Given the description of an element on the screen output the (x, y) to click on. 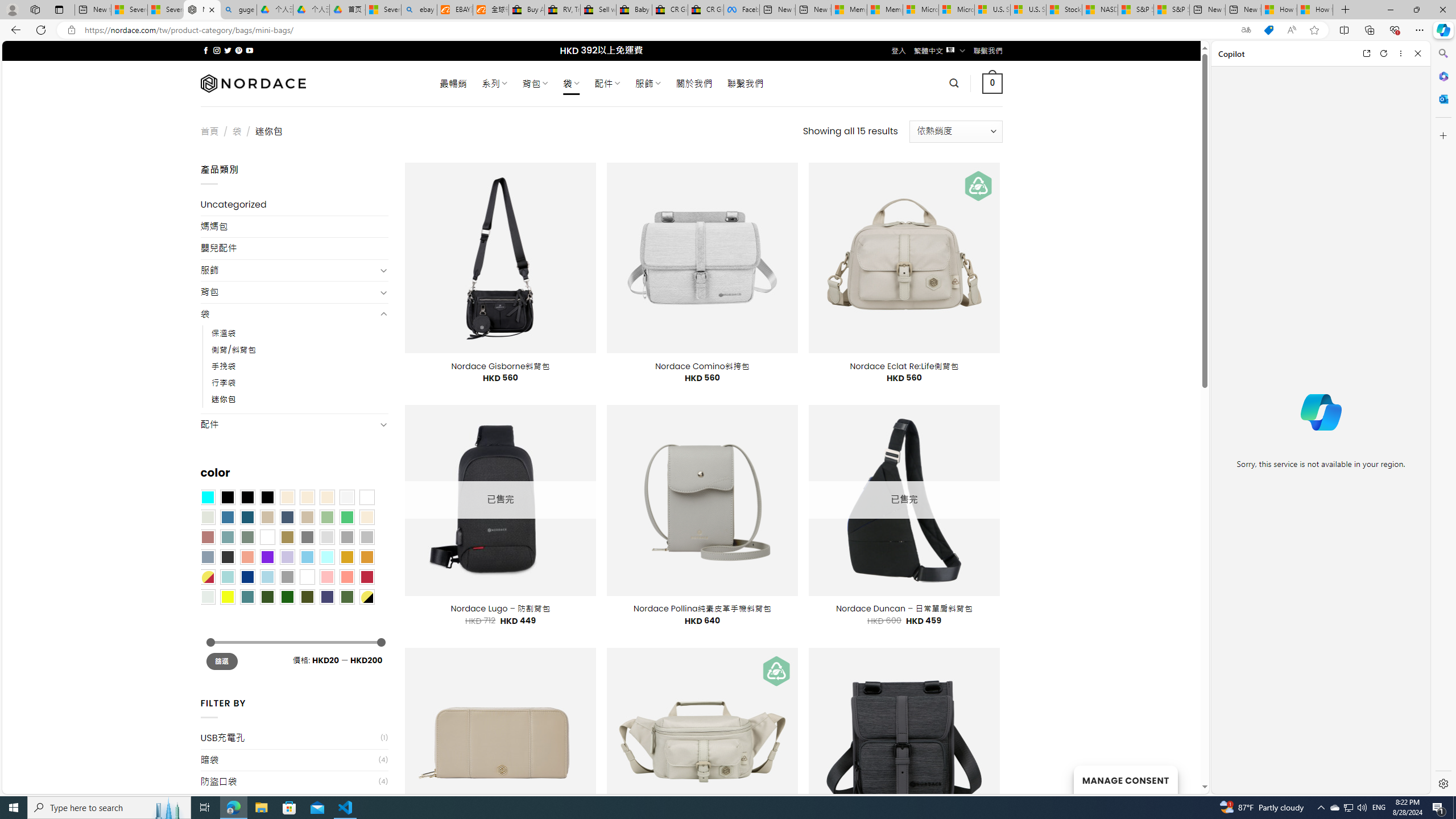
Follow on Instagram (216, 50)
Show translate options (1245, 29)
